Given the description of an element on the screen output the (x, y) to click on. 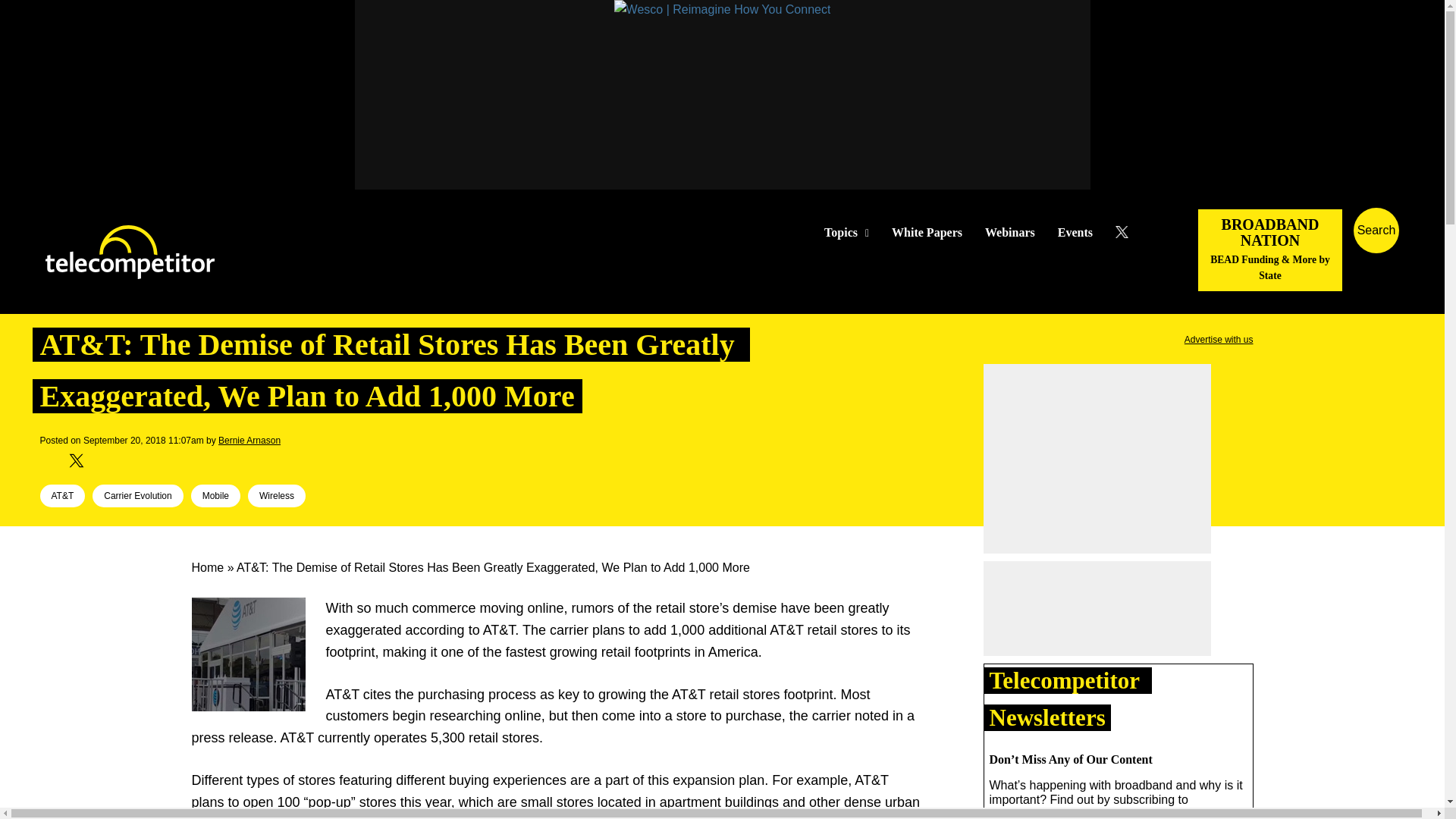
Share on Facebook (51, 460)
Share on Linked In (99, 460)
Webinars (1010, 232)
Events (1074, 232)
Pinterest (124, 460)
White Papers (927, 232)
Search telecompetitor.com (1376, 230)
Search (1430, 253)
Spread the word on Twitter (75, 460)
Topics (846, 232)
